Given the description of an element on the screen output the (x, y) to click on. 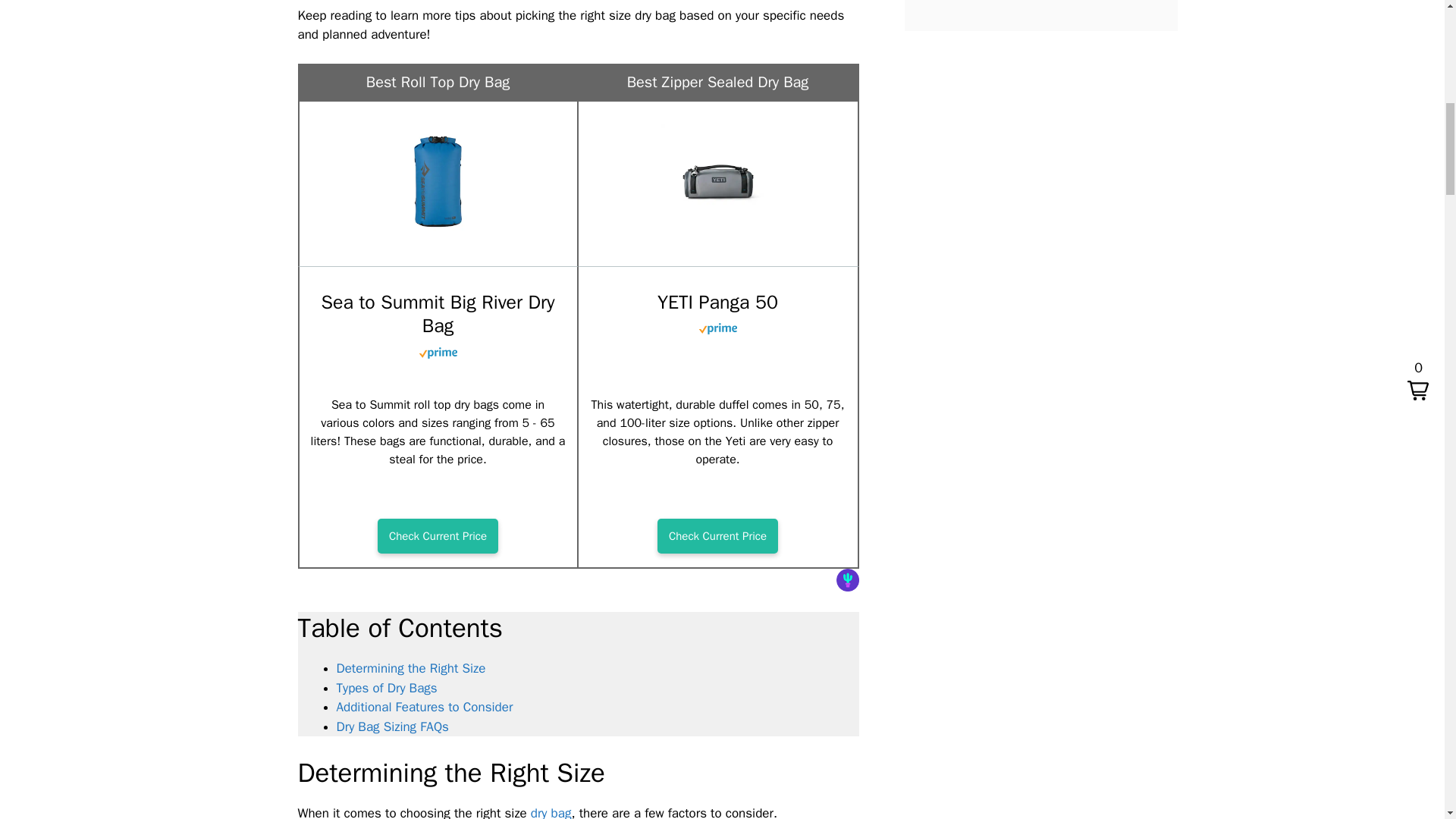
Sea to Summit Big River Dry Bag (437, 535)
Sea to Summit Big River Dry Bag (437, 233)
YETI Panga 50 (717, 233)
Sea to Summit Big River Dry Bag (438, 314)
YETI Panga 50 (717, 535)
YETI Panga 50 (717, 301)
